Given the description of an element on the screen output the (x, y) to click on. 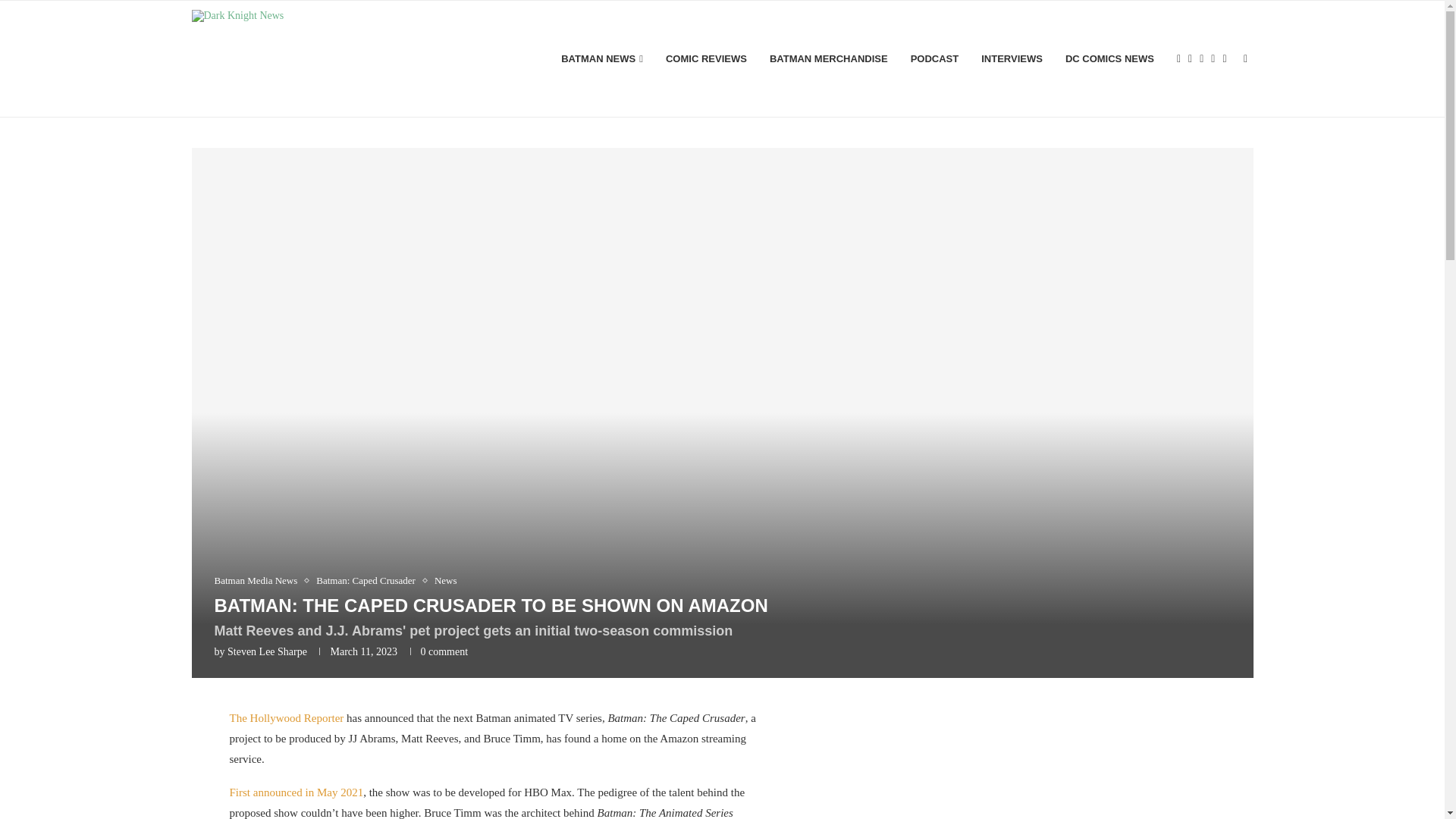
BATMAN MERCHANDISE (829, 58)
